Given the description of an element on the screen output the (x, y) to click on. 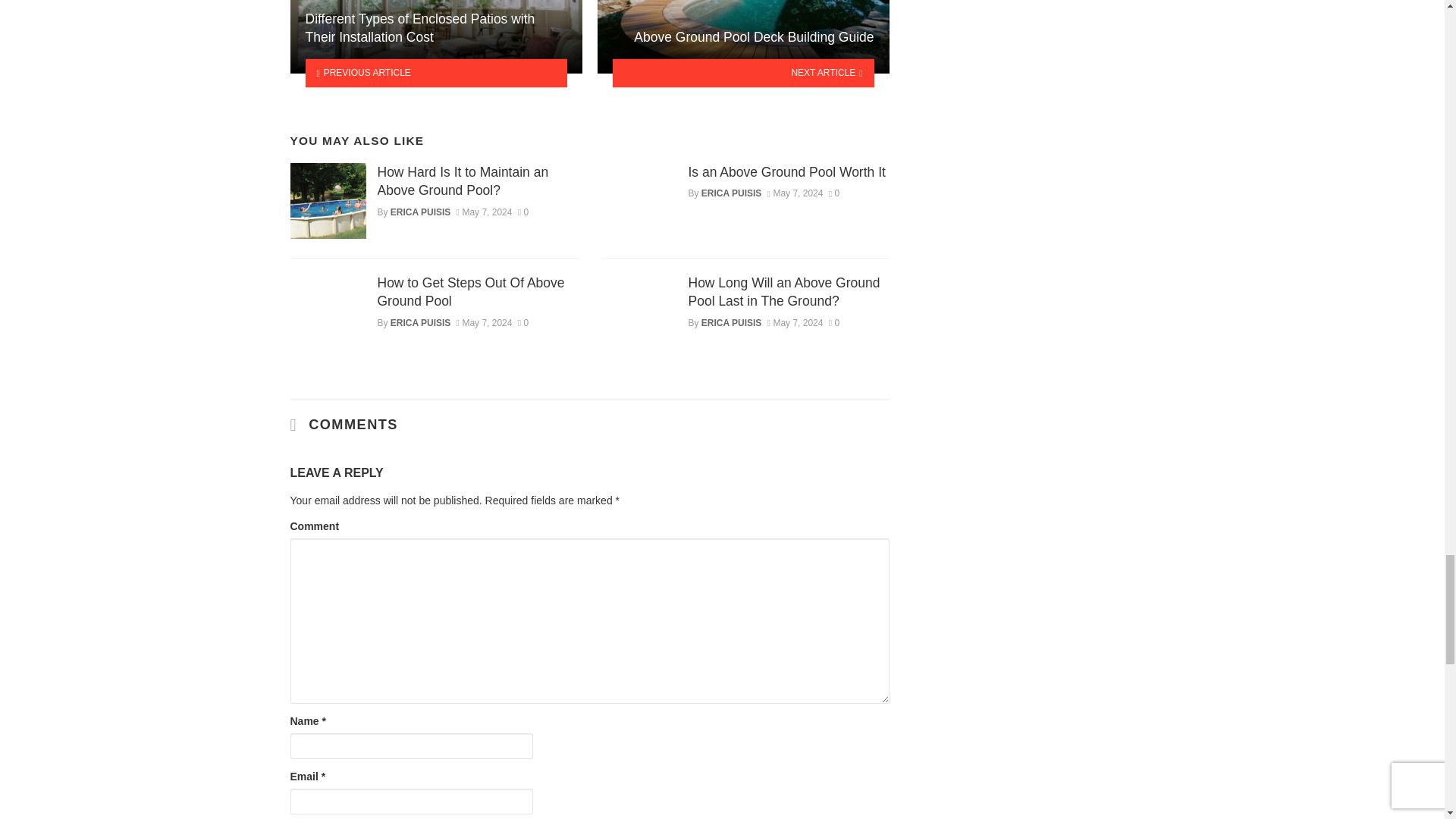
May 7, 2024 at 11:16 am (483, 212)
